Given the description of an element on the screen output the (x, y) to click on. 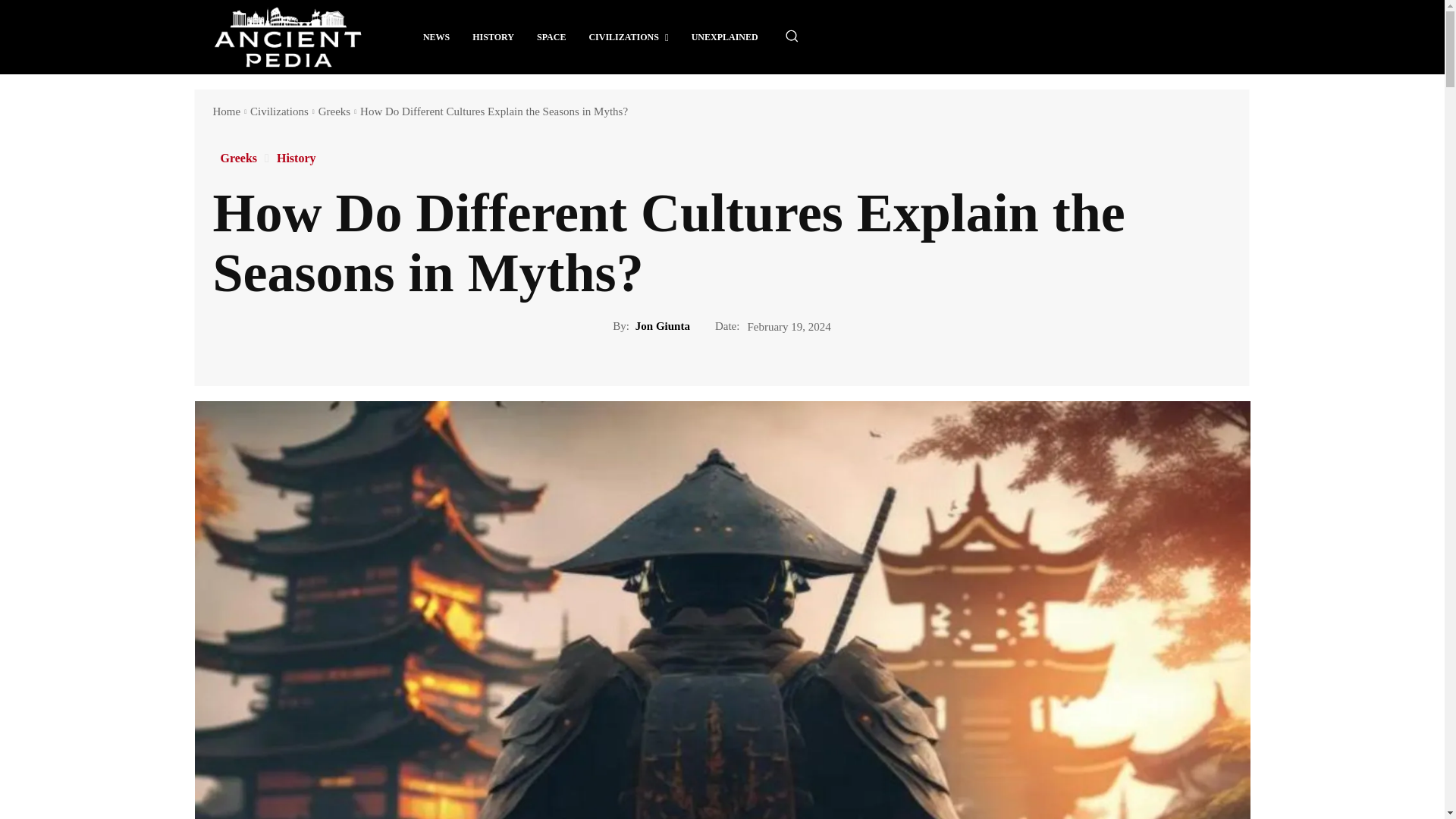
CIVILIZATIONS (627, 36)
View all posts in Civilizations (279, 111)
View all posts in Greeks (334, 111)
SPACE (550, 36)
UNEXPLAINED (724, 36)
HISTORY (493, 36)
NEWS (436, 36)
